Given the description of an element on the screen output the (x, y) to click on. 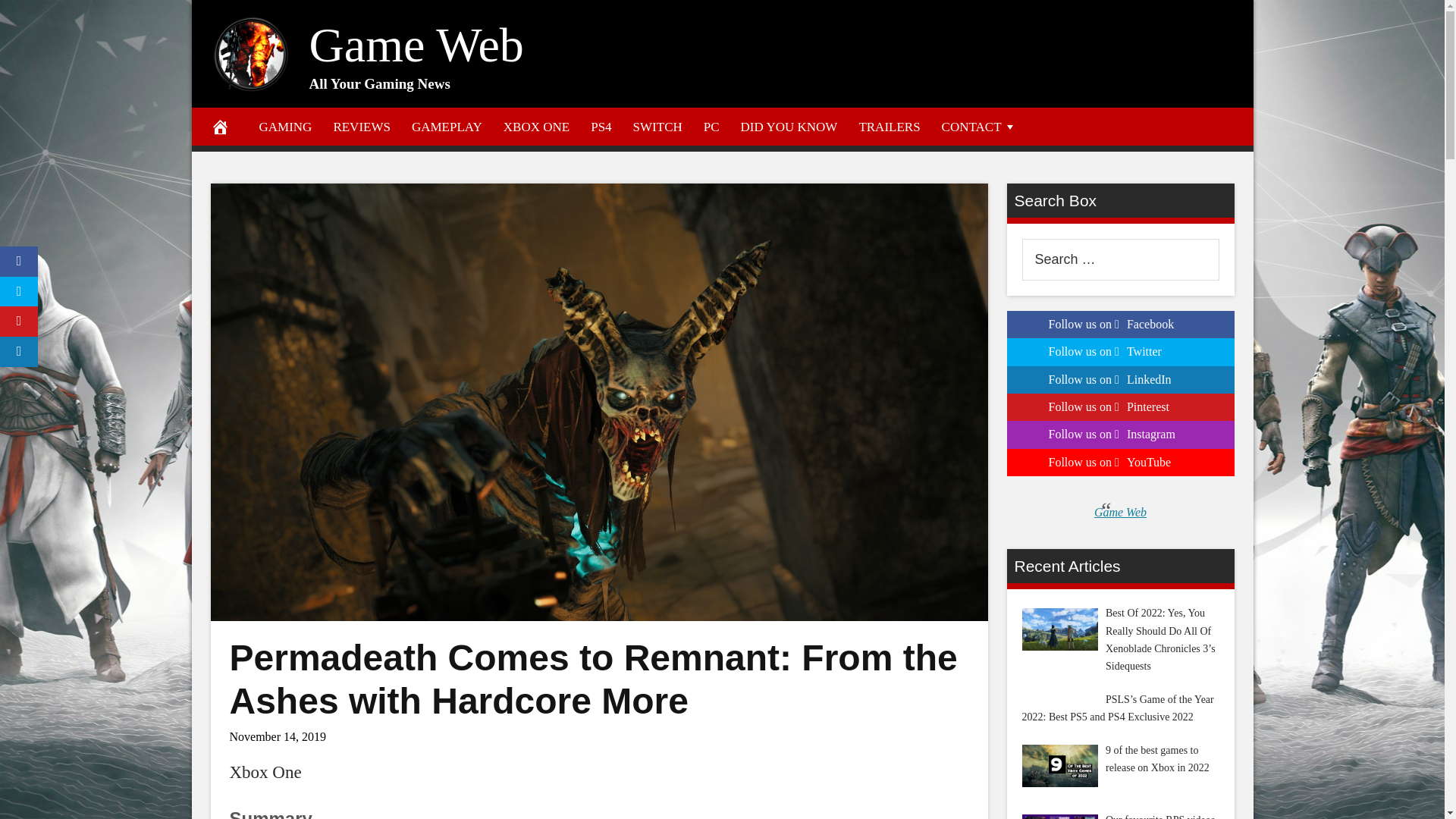
GAMEPLAY (447, 126)
GAMING (285, 126)
PC (711, 126)
PS4 (600, 126)
TRAILERS (888, 126)
Xbox One (264, 772)
XBOX ONE (536, 126)
REVIEWS (361, 126)
